Given the description of an element on the screen output the (x, y) to click on. 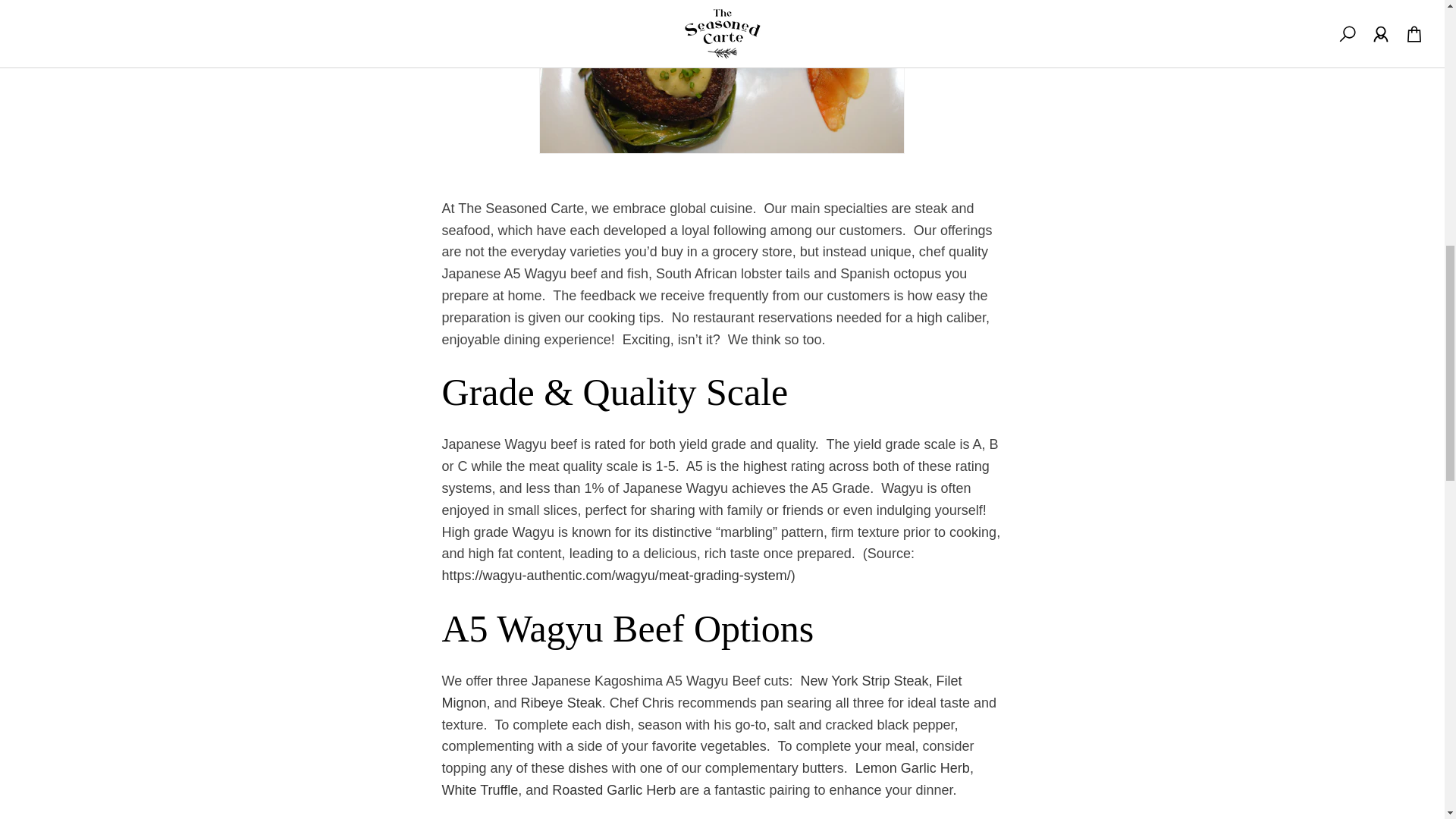
Lemon Garlic Herb (912, 767)
Filet Mignon (700, 691)
Ribeye Steak (561, 702)
Japanese A5 Wagyu Steak Ribeye (561, 702)
Japanese A5 Wagyu Steak New York Strip (863, 680)
White Truffle Butter  (479, 789)
Roasted Garlic Herb (613, 789)
Japanese A5 Wagyu Steak Filet Mignon (700, 691)
Roasted Garlic Herb Steak and Seafood Butter  (613, 789)
New York Strip Steak (863, 680)
White Truffle (479, 789)
